Given the description of an element on the screen output the (x, y) to click on. 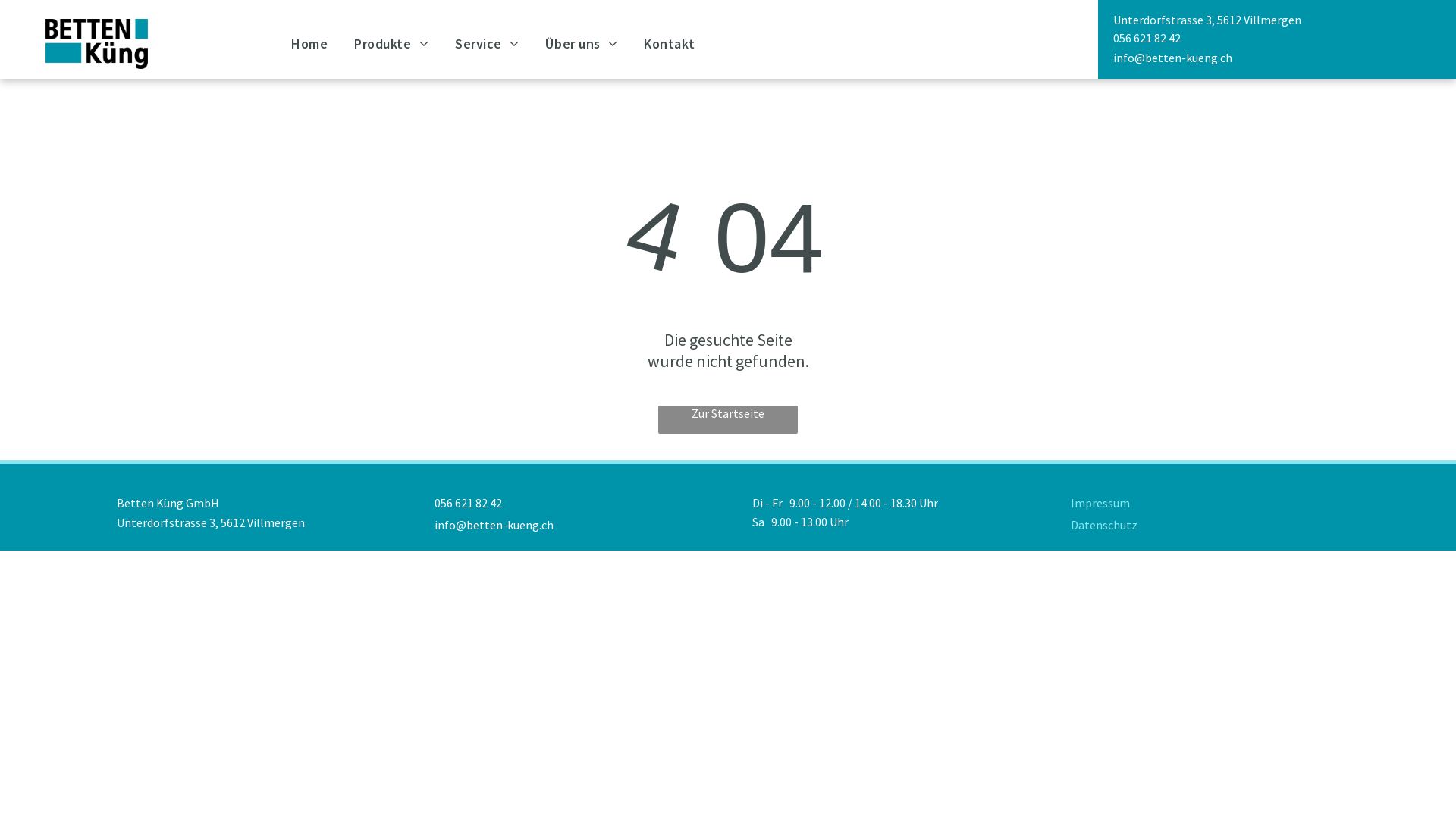
info@betten-kueng.ch Element type: text (1172, 57)
056 621 82 42 Element type: text (468, 502)
Zur Startseite Element type: text (727, 419)
Datenschutz Element type: text (1103, 524)
Home Element type: text (322, 43)
Impressum Element type: text (1099, 502)
056 621 82 42 Element type: text (1146, 37)
Kontakt Element type: text (682, 43)
info@betten-kueng.ch Element type: text (493, 524)
Service Element type: text (500, 43)
Produkte Element type: text (404, 43)
